Given the description of an element on the screen output the (x, y) to click on. 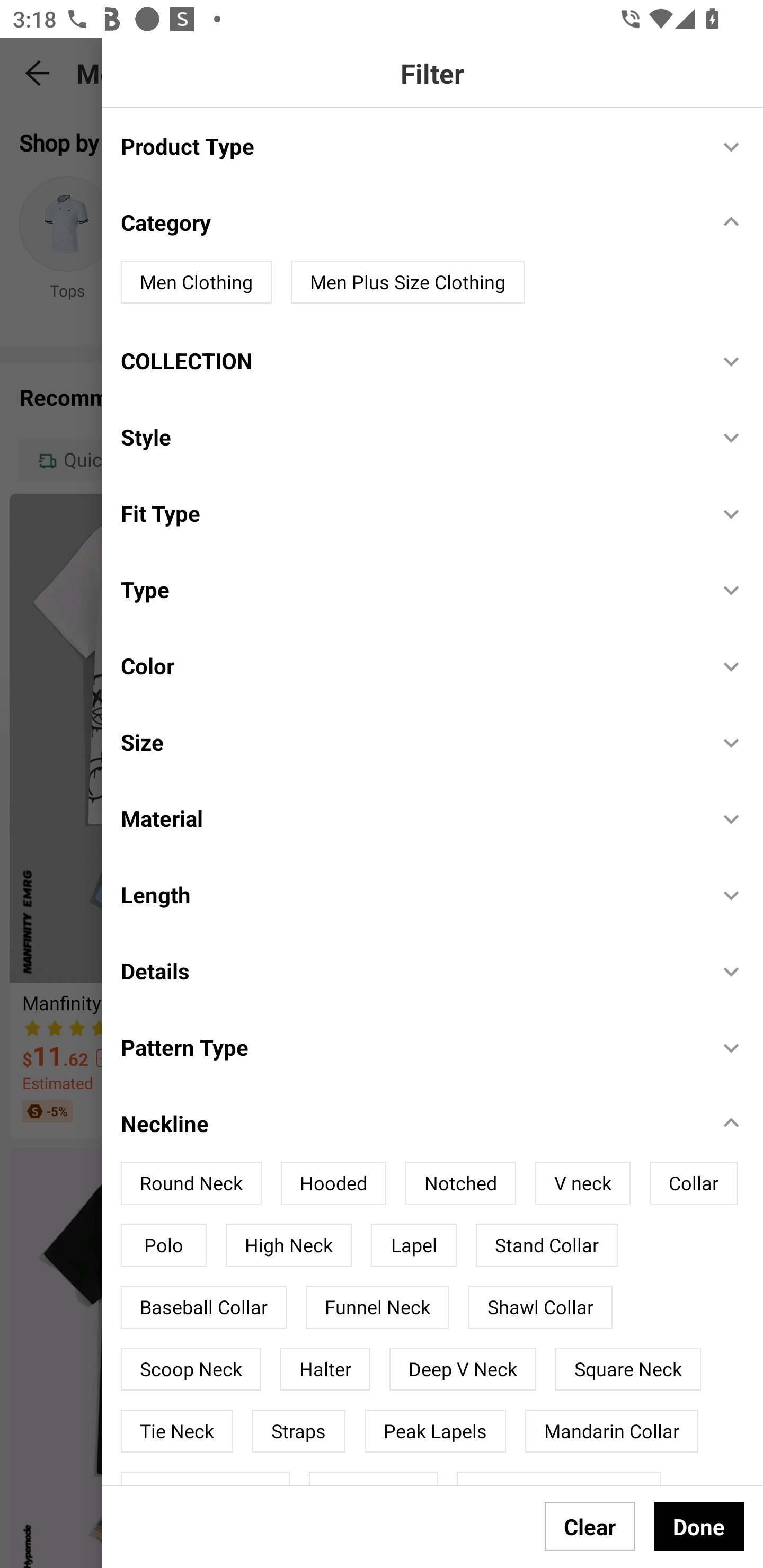
Product Type (409, 145)
Category (409, 222)
Men Clothing (195, 282)
Men Plus Size Clothing (407, 282)
COLLECTION (409, 360)
Style (409, 437)
Fit Type (409, 513)
Type (409, 589)
Color (409, 665)
Size (409, 741)
Material (409, 818)
Length (409, 894)
Details (409, 970)
Pattern Type (409, 1047)
Neckline (409, 1123)
Round Neck (190, 1182)
Hooded (333, 1182)
Notched (460, 1182)
V neck (582, 1182)
Collar (693, 1182)
Polo (163, 1244)
High Neck (288, 1244)
Lapel (413, 1244)
Stand Collar (547, 1244)
Baseball Collar (203, 1306)
Funnel Neck (377, 1306)
Shawl Collar (540, 1306)
Scoop Neck (190, 1368)
Halter (325, 1368)
Deep V Neck (462, 1368)
Square Neck (628, 1368)
Tie Neck (176, 1430)
Straps (298, 1430)
Peak Lapels (434, 1430)
Mandarin Collar (611, 1430)
Clear (589, 1526)
Done (698, 1526)
